Given the description of an element on the screen output the (x, y) to click on. 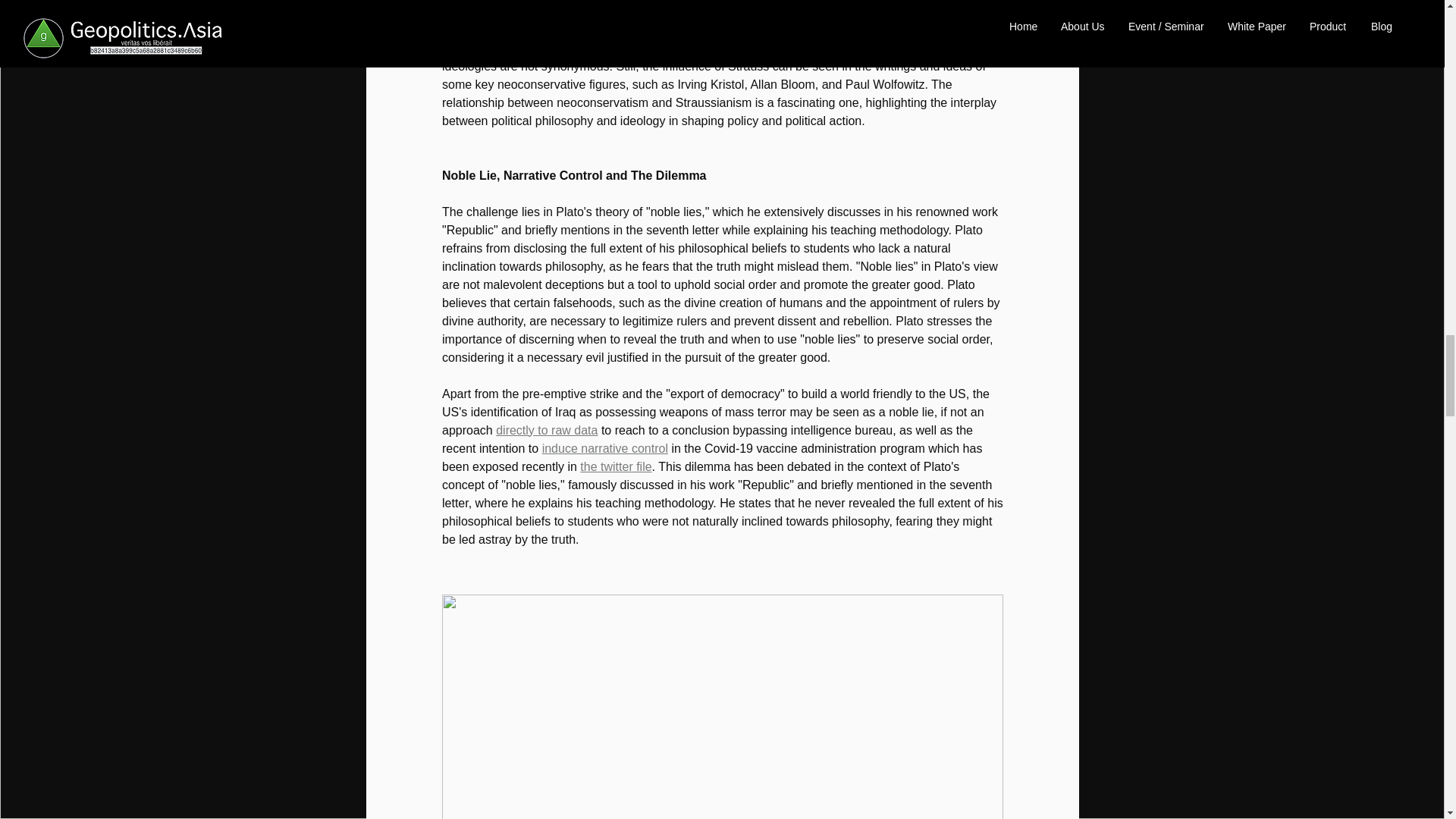
the twitter file (614, 466)
induce narrative control (603, 448)
directly to raw data (546, 430)
